Given the description of an element on the screen output the (x, y) to click on. 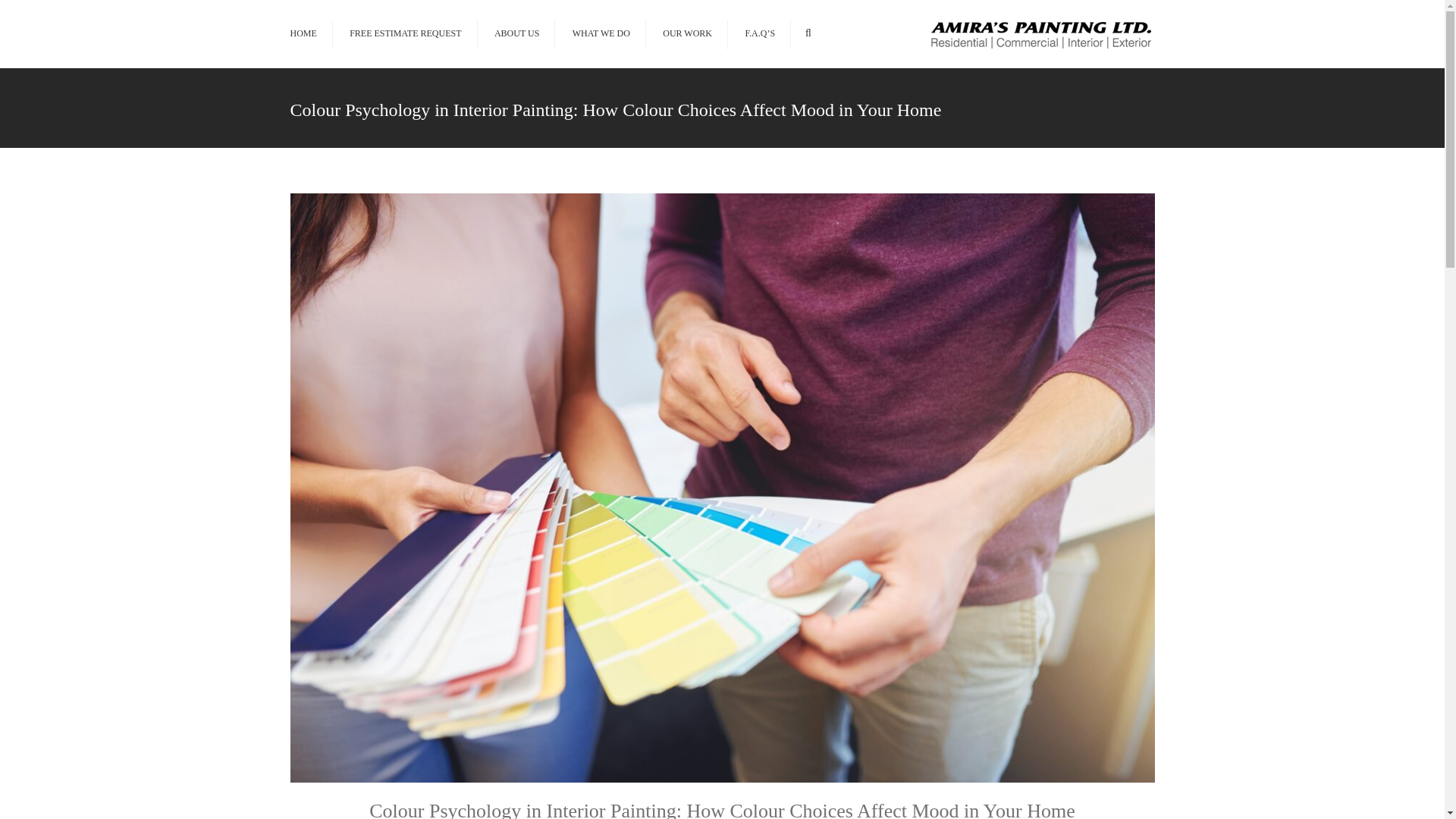
Search (807, 32)
FREE ESTIMATE REQUEST (405, 33)
HOME (302, 33)
WHAT WE DO (600, 33)
OUR WORK (687, 33)
ABOUT US (516, 33)
Post Comment (41, 11)
